Given the description of an element on the screen output the (x, y) to click on. 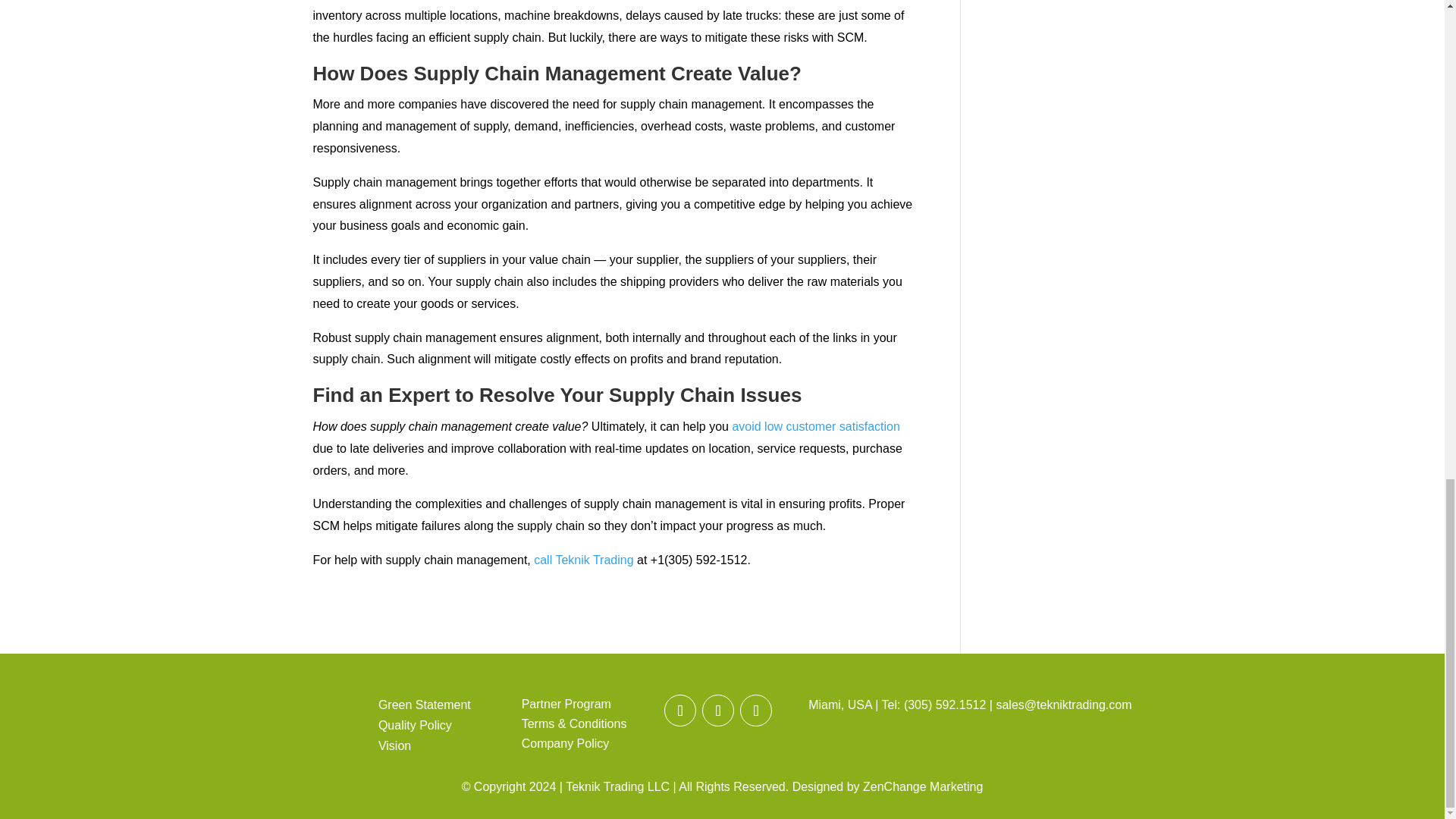
Follow on X (679, 710)
Follow on Facebook (717, 710)
Follow on LinkedIn (755, 710)
isotipo (333, 714)
call Teknik Trading (583, 559)
Image 7 (1059, 738)
avoid low customer satisfaction (815, 426)
